Given the description of an element on the screen output the (x, y) to click on. 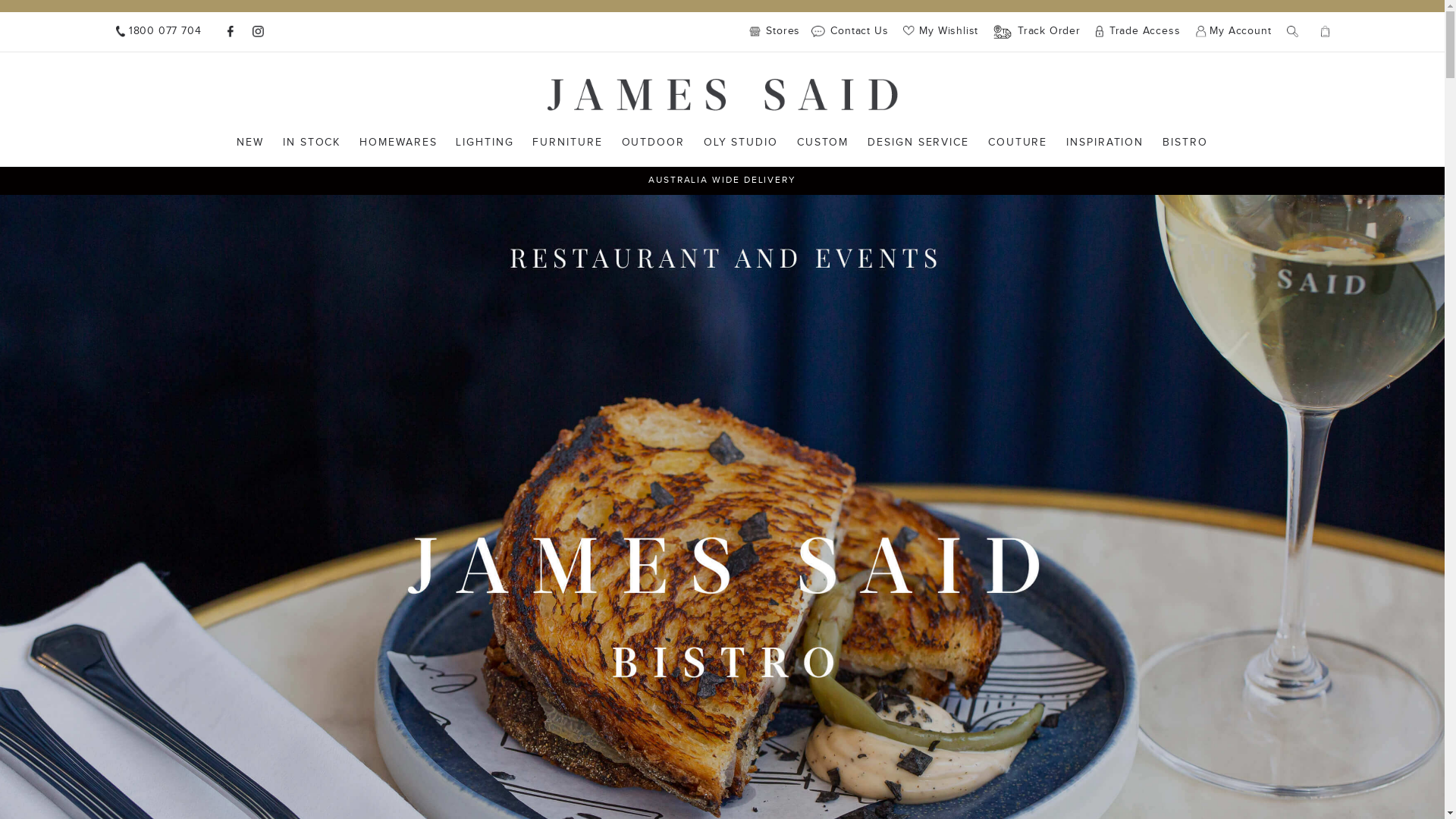
FURNITURE Element type: text (566, 143)
INSPIRATION Element type: text (1104, 143)
Track Order Element type: text (1036, 31)
BISTRO Element type: text (1184, 143)
My Account Element type: text (1232, 31)
LIGHTING Element type: text (484, 143)
OLY STUDIO Element type: text (740, 143)
CUSTOM Element type: text (822, 143)
My Wishlist Element type: text (940, 31)
Trade Access Element type: text (1137, 31)
AUSTRALIA WIDE DELIVERY Element type: text (722, 179)
Jamessaid Element type: hover (722, 94)
IN STOCK Element type: text (311, 143)
DESIGN SERVICE Element type: text (917, 143)
Contact Us Element type: text (849, 31)
My Cart Element type: text (1325, 31)
COUTURE Element type: text (1017, 143)
OUTDOOR Element type: text (653, 143)
Stores Element type: text (778, 31)
HOMEWARES Element type: text (397, 143)
1800 077 704 Element type: text (157, 31)
NEW Element type: text (250, 143)
